Given the description of an element on the screen output the (x, y) to click on. 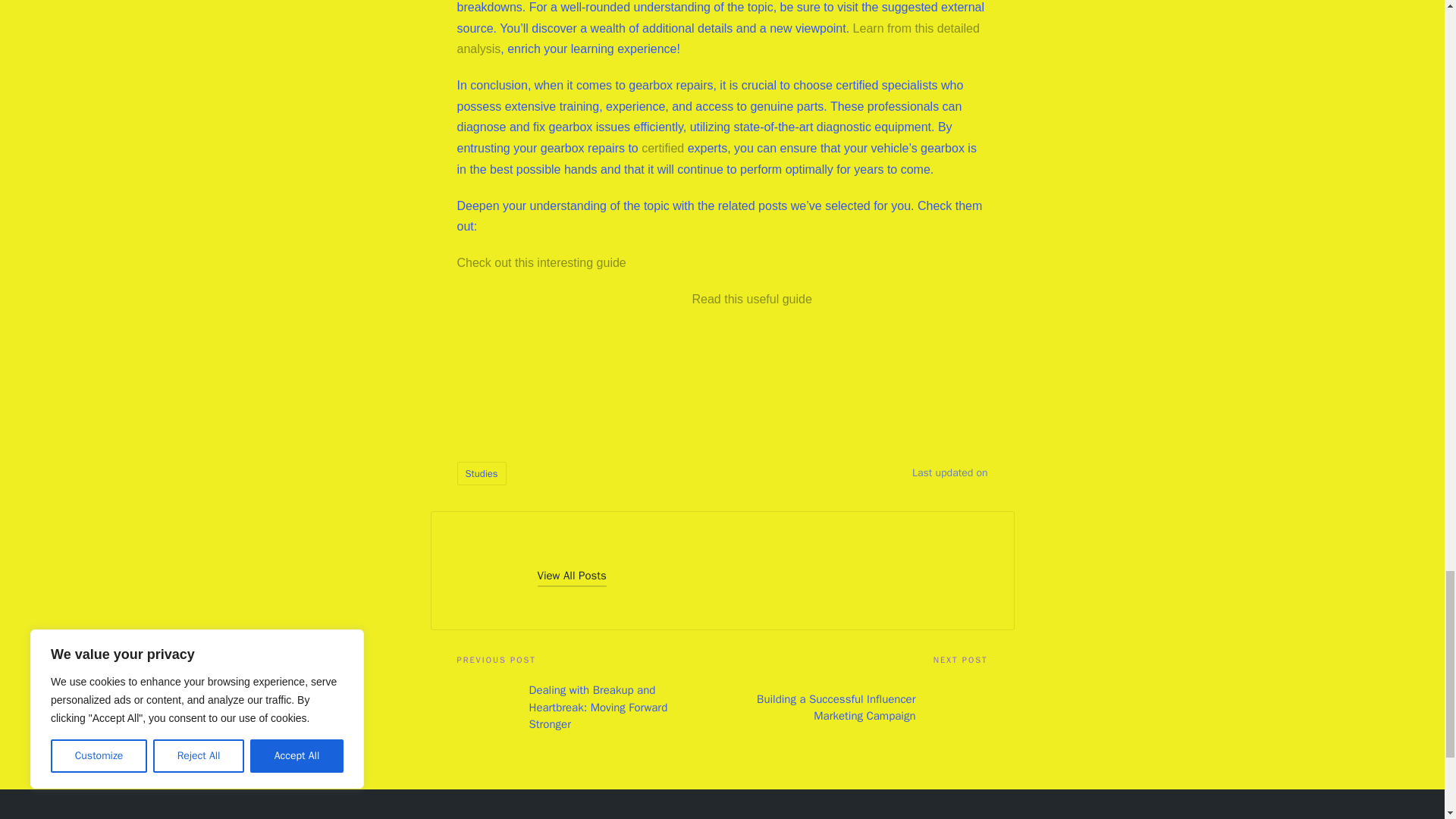
Learn from this detailed analysis (717, 39)
Building a Successful Influencer Marketing Campaign (854, 707)
Check out this interesting guide (541, 262)
Read this useful guide (750, 298)
Studies (481, 473)
View All Posts (571, 575)
certified (663, 147)
Dealing with Breakup and Heartbreak: Moving Forward Stronger (589, 707)
